Given the description of an element on the screen output the (x, y) to click on. 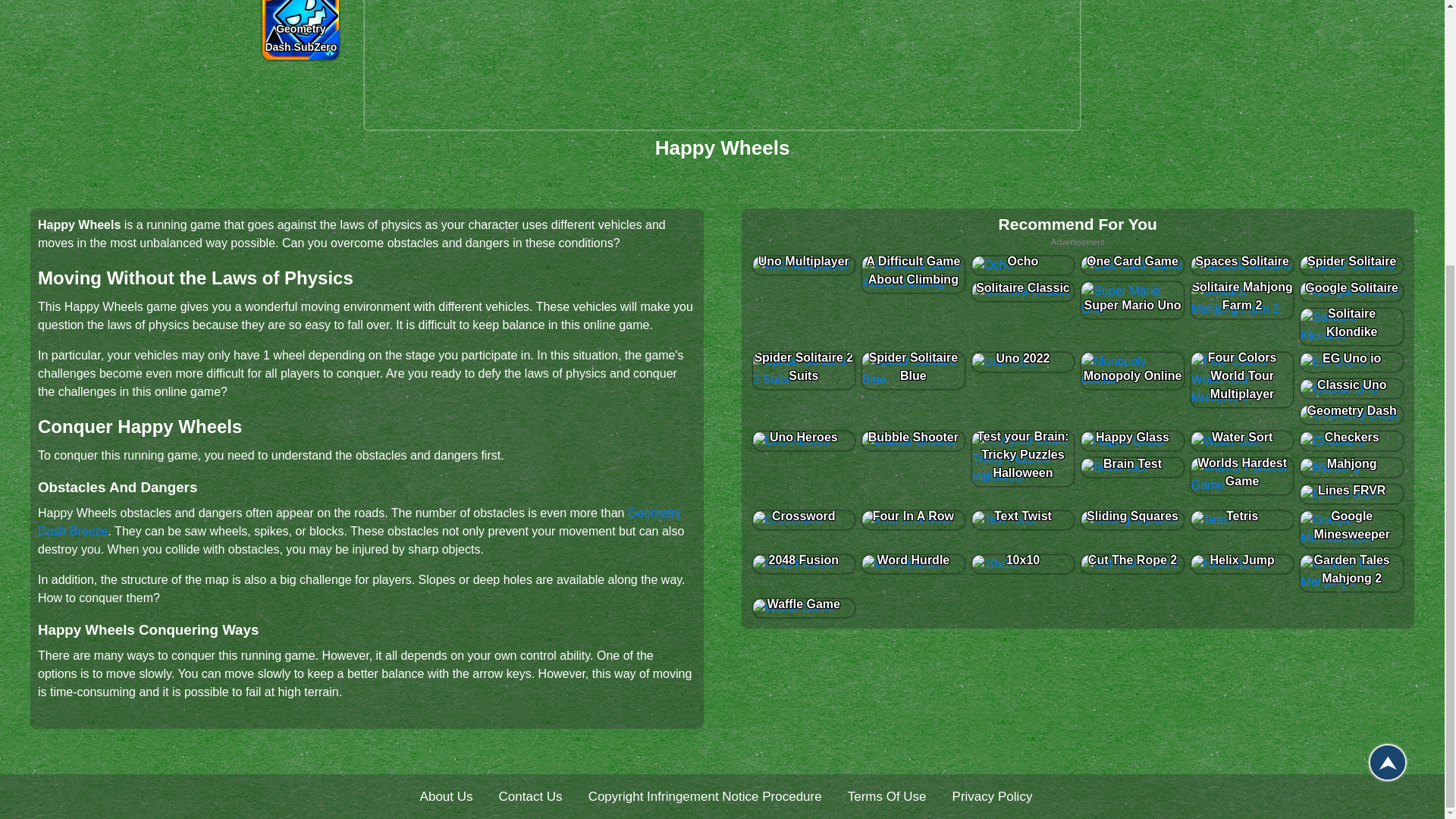
Geometry Dash Breeze (359, 521)
One Card Game (1132, 264)
Geometry Dash SubZero (300, 29)
Uno Multiplayer (804, 264)
Geometry Dash SubZero (300, 29)
Ocho (1023, 264)
A Difficult Game About Climbing (913, 273)
